Given the description of an element on the screen output the (x, y) to click on. 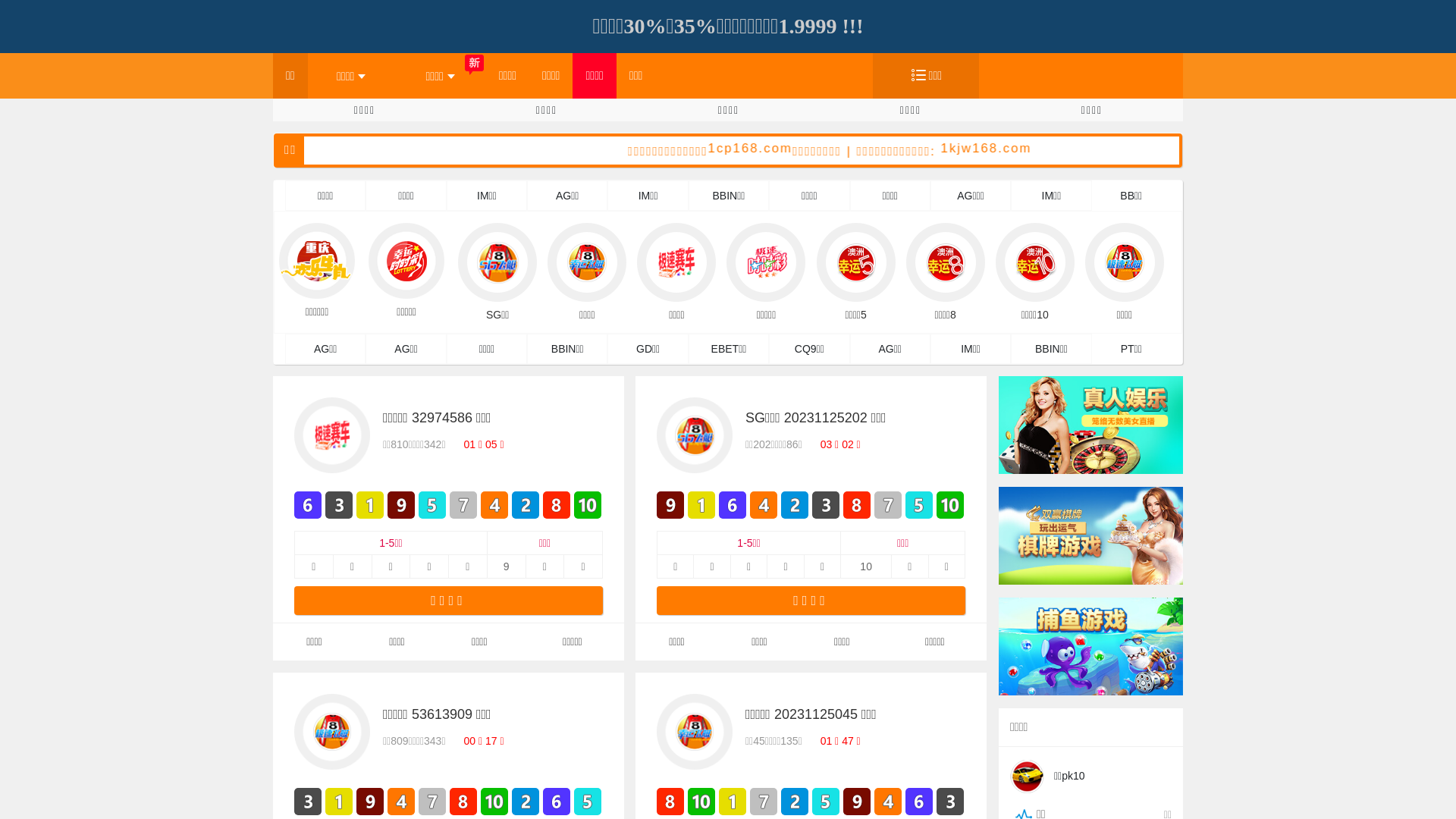
1cp168.com Element type: text (854, 148)
1kjw168.com Element type: text (1089, 148)
